Given the description of an element on the screen output the (x, y) to click on. 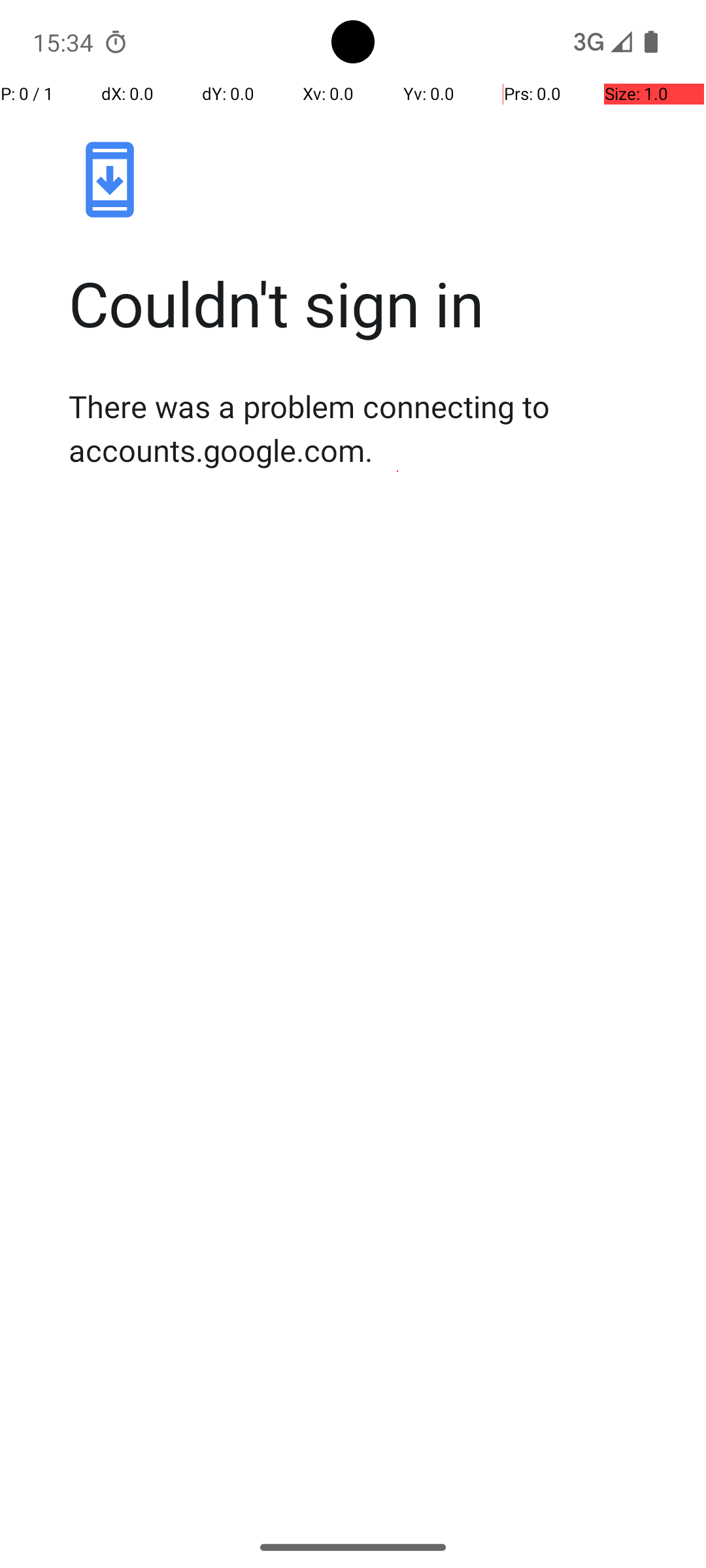
Couldn't sign in Element type: android.widget.TextView (366, 302)
There was a problem connecting to accounts.google.com. Element type: android.widget.TextView (366, 427)
